Given the description of an element on the screen output the (x, y) to click on. 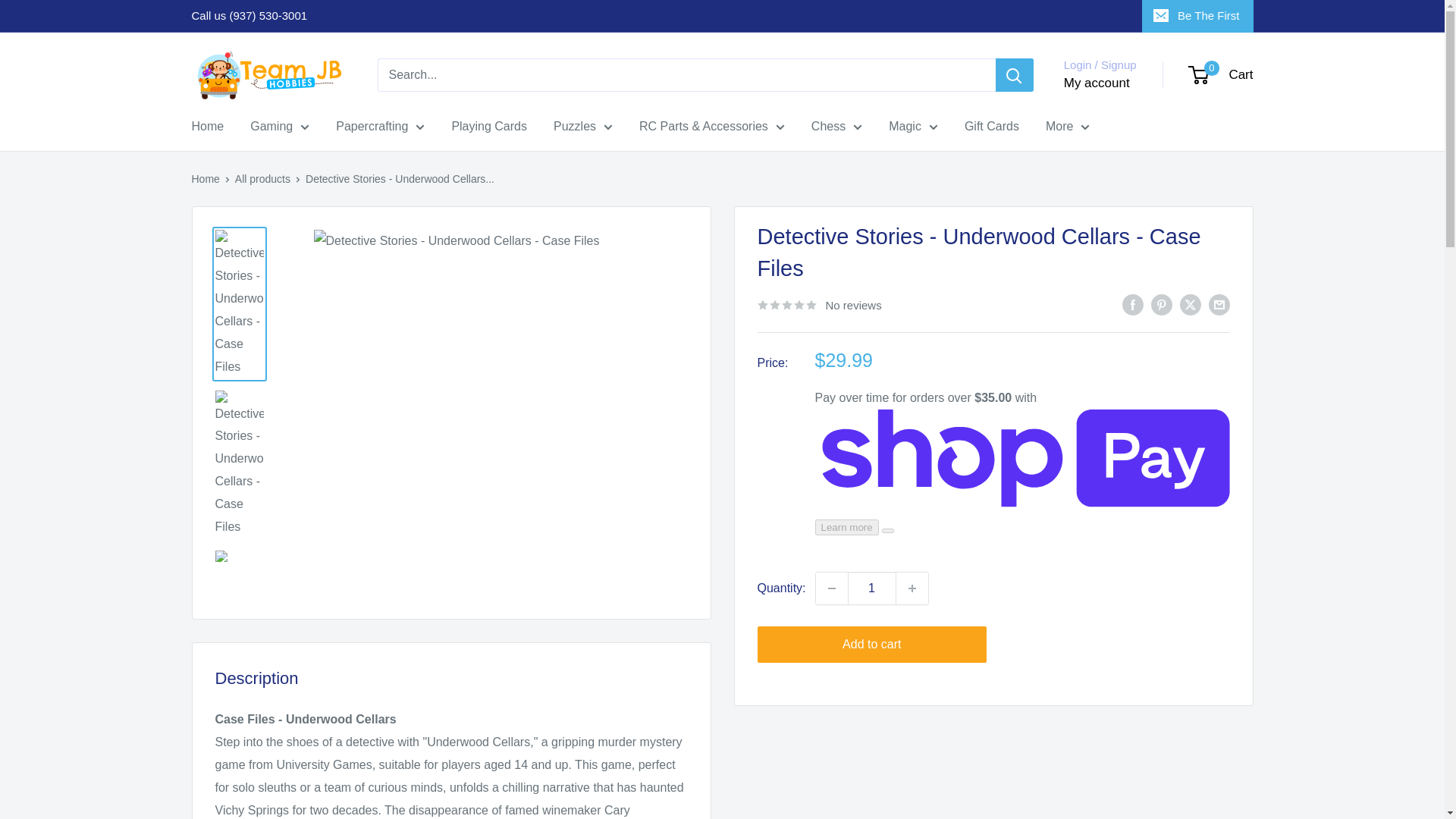
Be The First (1196, 15)
Decrease quantity by 1 (831, 588)
Increase quantity by 1 (912, 588)
1 (871, 588)
